Given the description of an element on the screen output the (x, y) to click on. 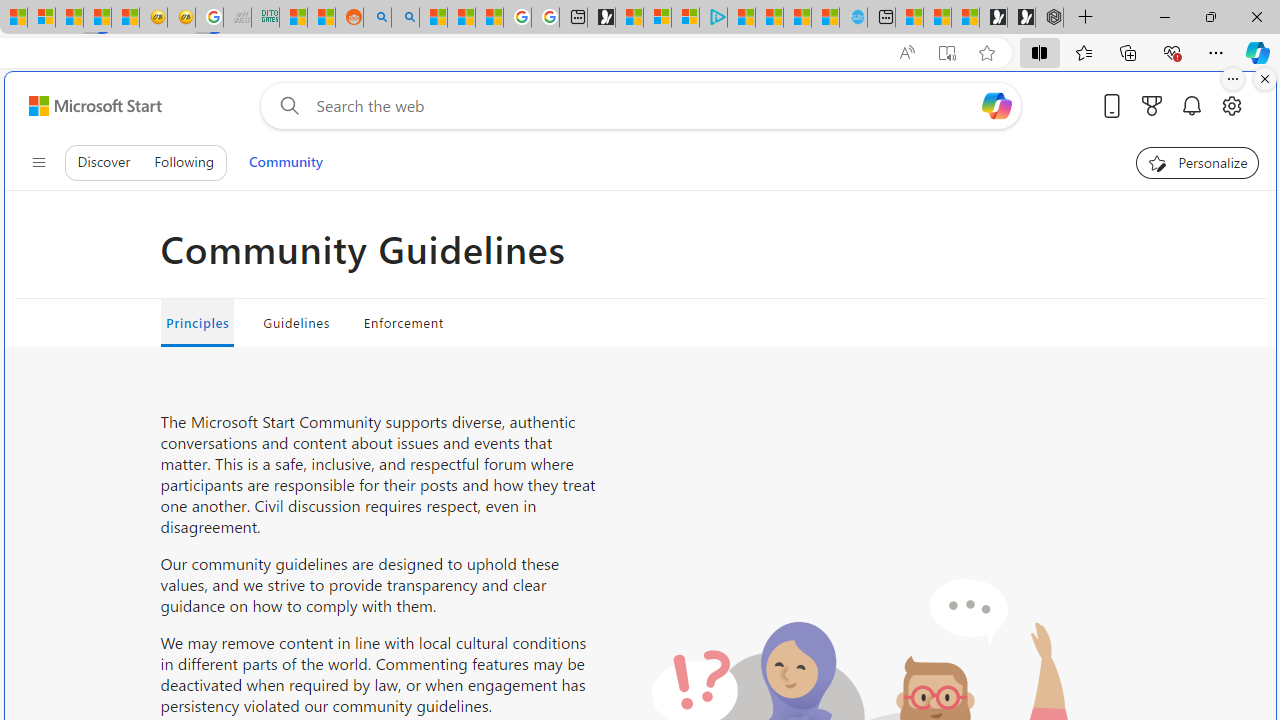
Community (285, 161)
Community (285, 162)
Class: control icon-only (38, 162)
Skip to content (87, 105)
Skip to footer (82, 105)
